Given the description of an element on the screen output the (x, y) to click on. 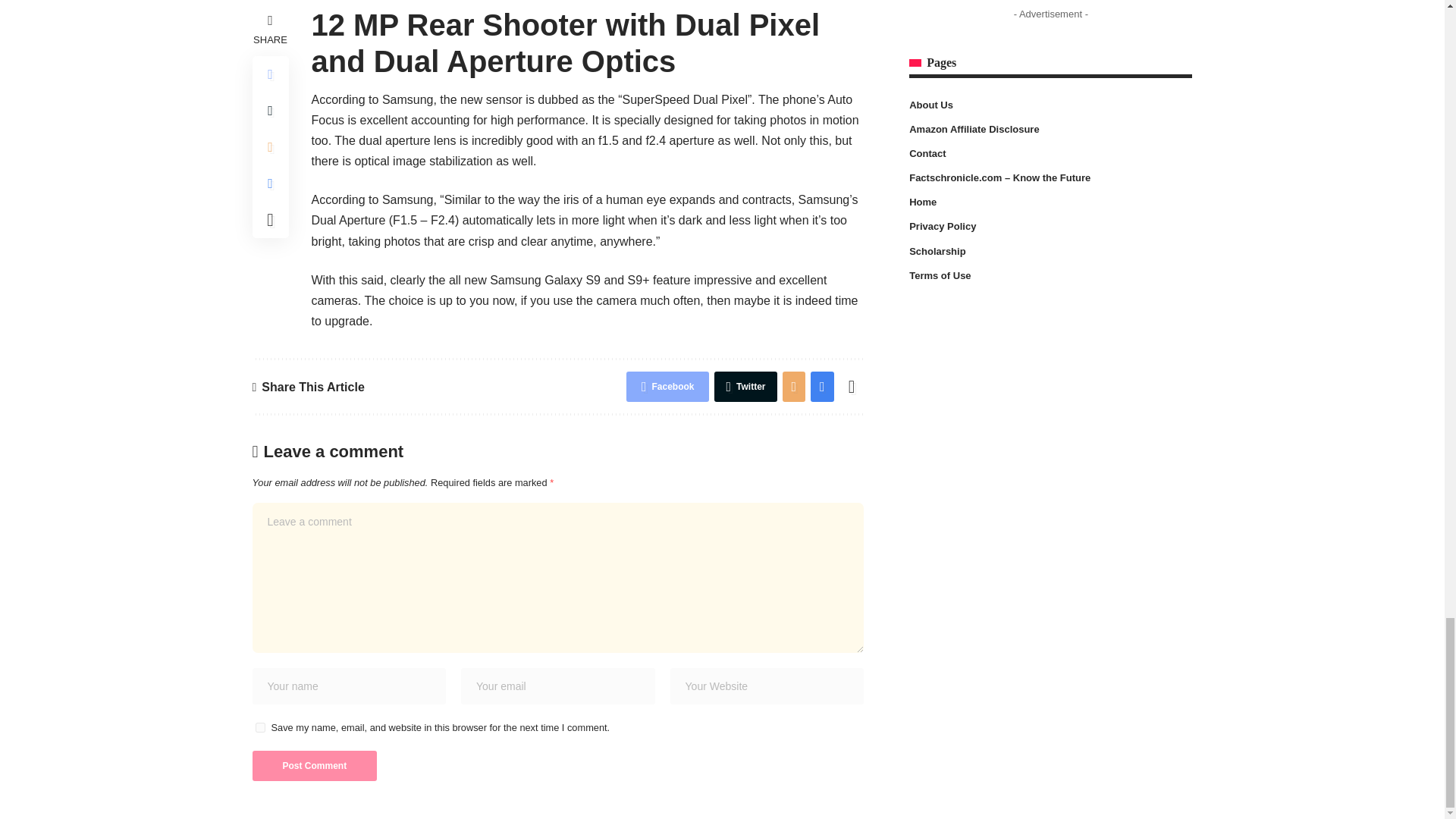
Post Comment (314, 766)
yes (259, 727)
